Given the description of an element on the screen output the (x, y) to click on. 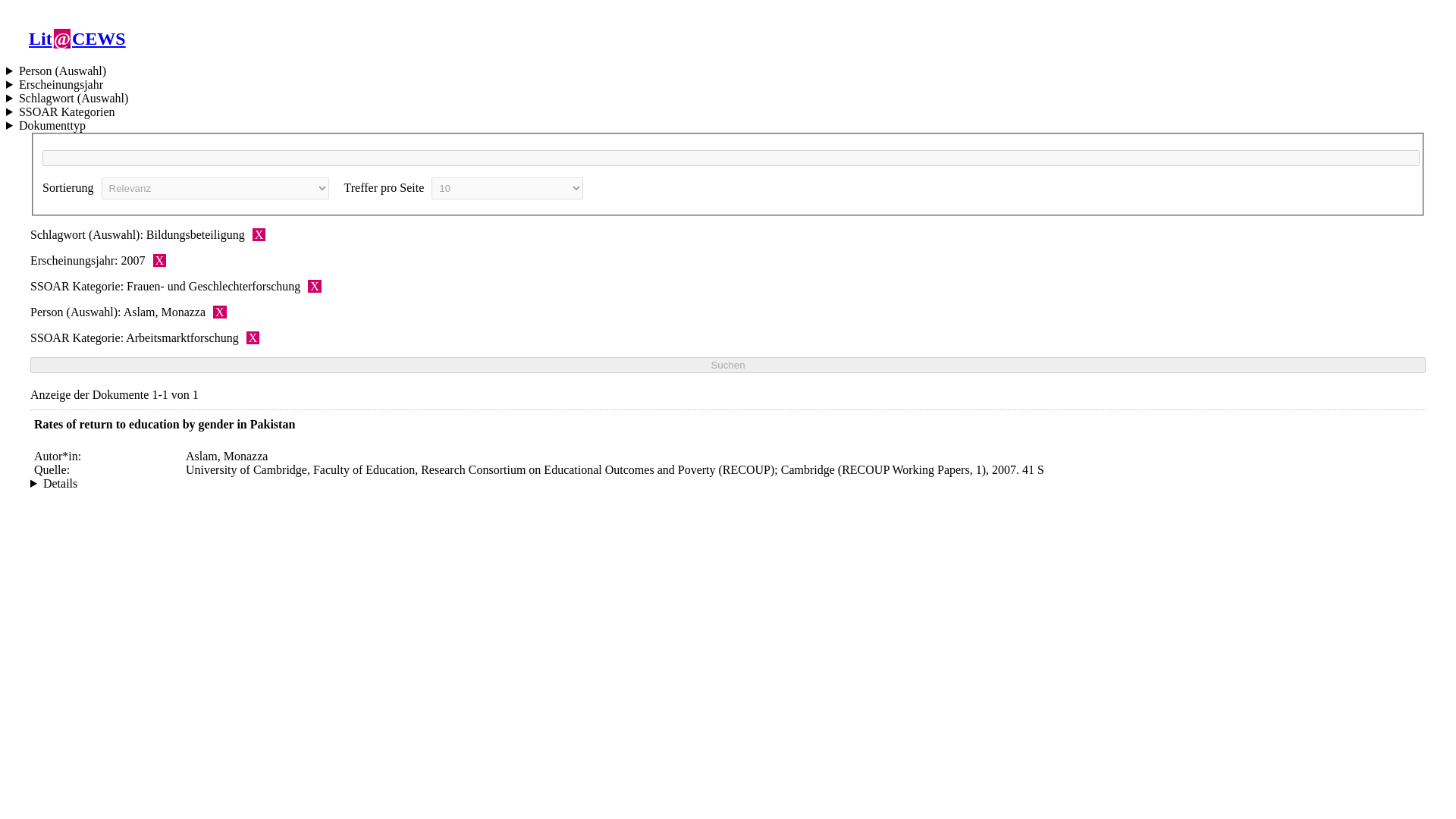
Suchen (727, 365)
Suchen (727, 365)
